Given the description of an element on the screen output the (x, y) to click on. 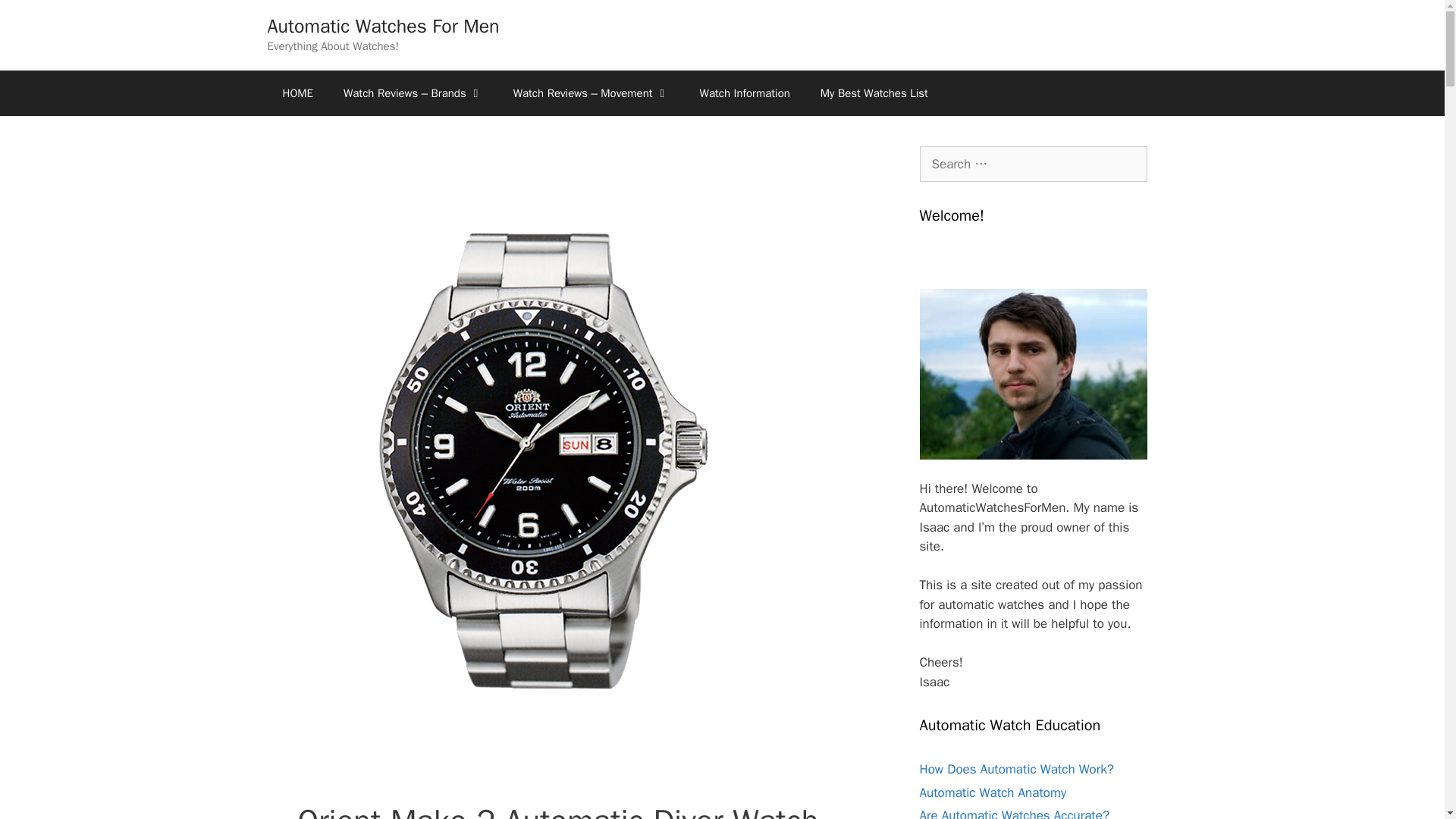
Automatic Watches For Men (382, 25)
Search for: (1032, 163)
Watch Information (744, 92)
My Best Watches List (874, 92)
HOME (296, 92)
